Given the description of an element on the screen output the (x, y) to click on. 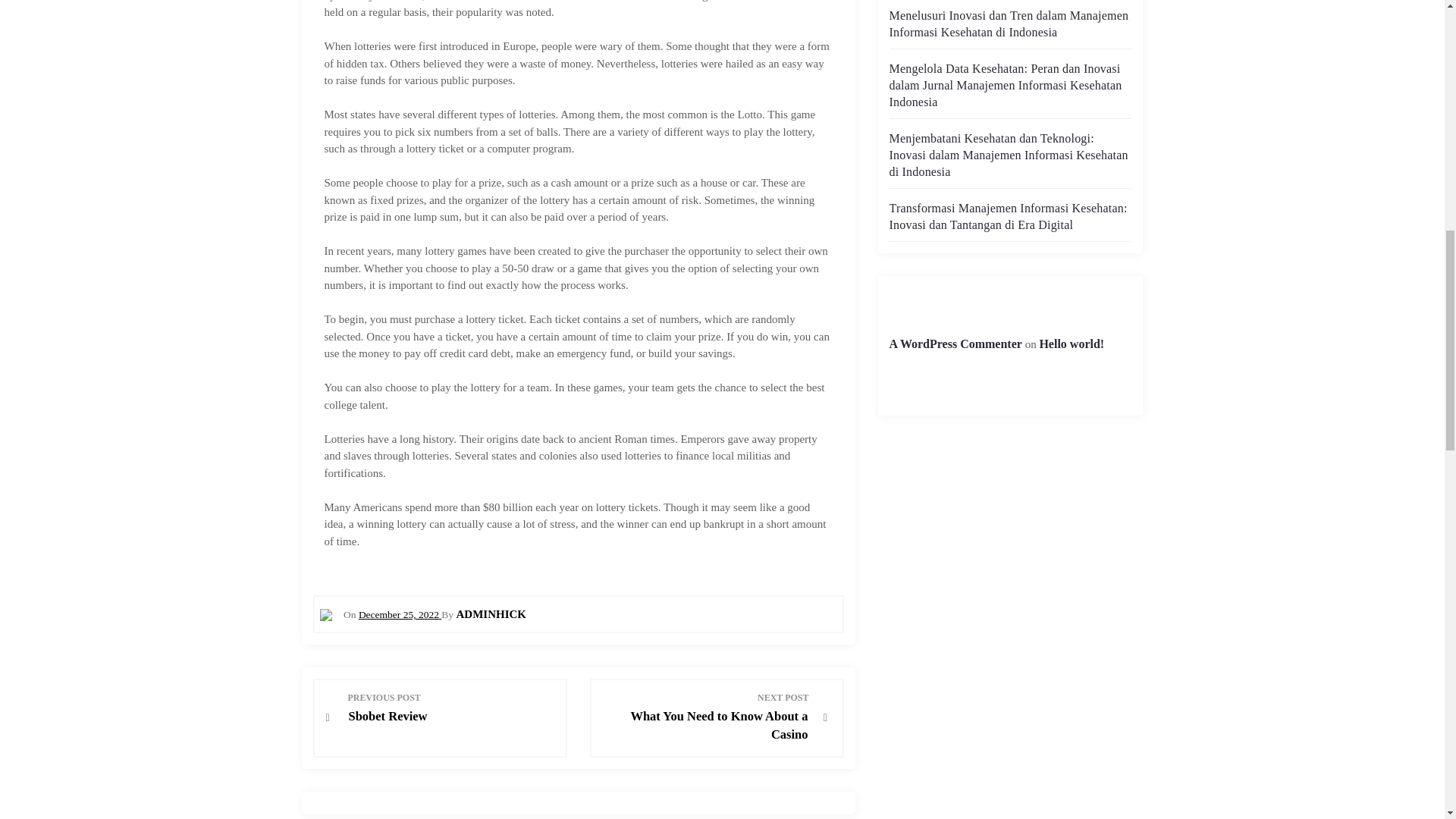
Hello world! (1071, 343)
December 25, 2022 (399, 614)
ADMINHICK (490, 613)
A WordPress Commenter (955, 343)
